Given the description of an element on the screen output the (x, y) to click on. 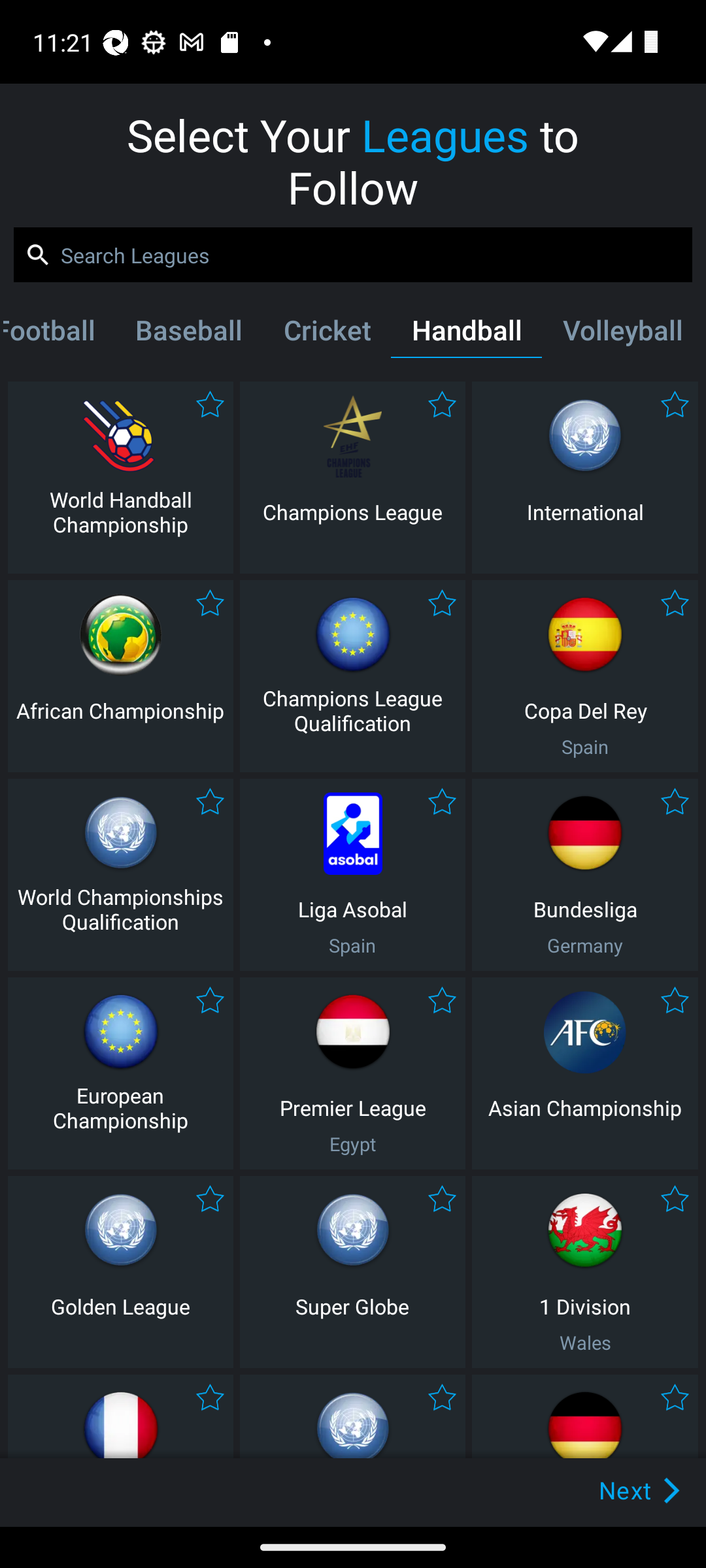
Search Leagues (352, 254)
A. Football (59, 333)
Baseball (188, 333)
Cricket (326, 333)
Handball (466, 333)
Volleyball (622, 333)
World Handball Championship (120, 477)
Champions League (352, 477)
International (585, 477)
African Championship (120, 675)
Champions League Qualification (352, 675)
Copa Del Rey Spain (585, 675)
World Championships Qualification (120, 874)
Liga Asobal Spain (352, 874)
Bundesliga Germany (585, 874)
European Championship (120, 1072)
Premier League Egypt (352, 1072)
Asian Championship (585, 1072)
Golden League (120, 1271)
Super Globe (352, 1271)
1 Division Wales (585, 1271)
Next (609, 1489)
